Given the description of an element on the screen output the (x, y) to click on. 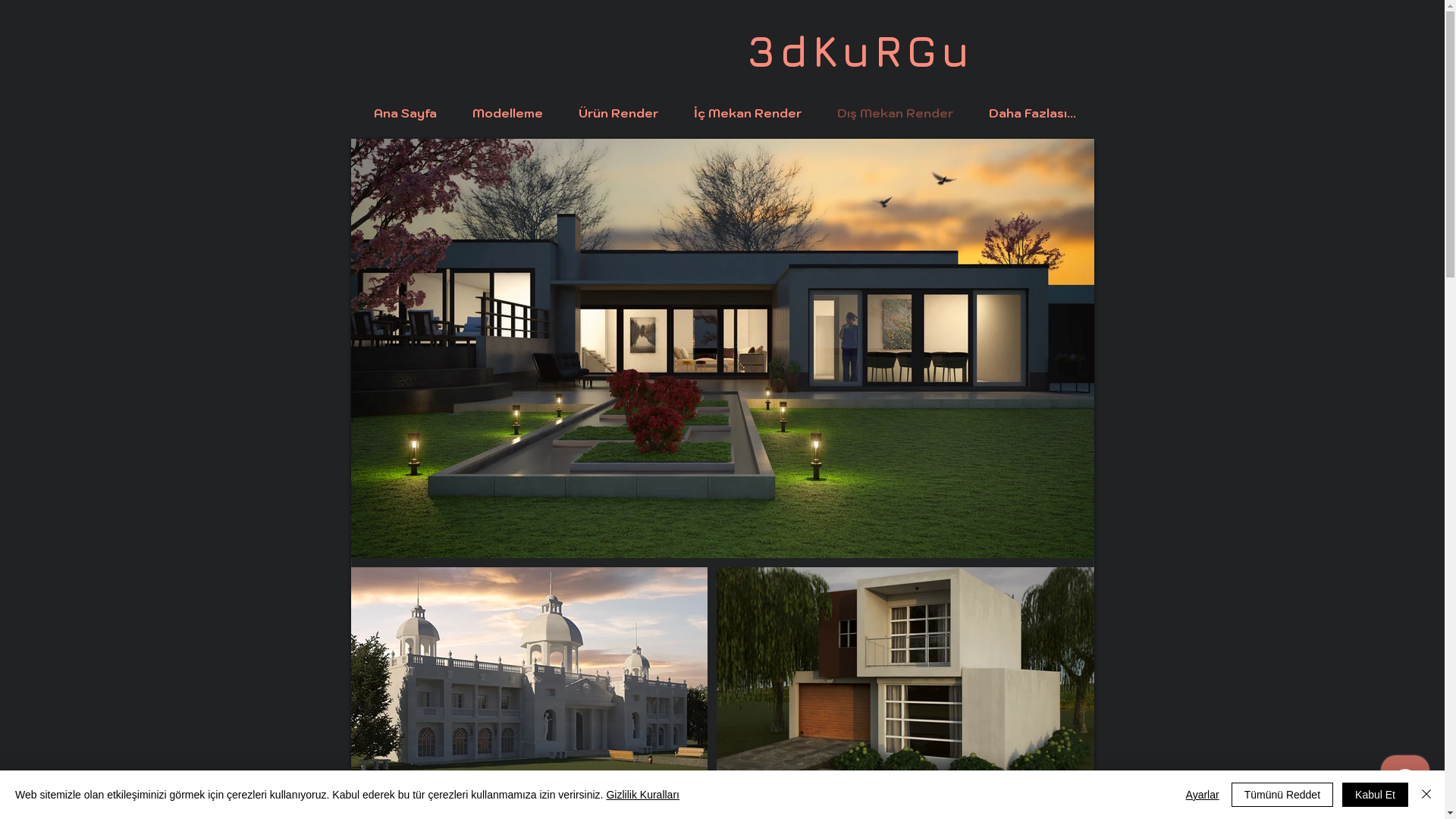
Modelleme Element type: text (508, 112)
Ana Sayfa Element type: text (405, 112)
Kabul Et Element type: text (1375, 794)
Embedded Content Element type: hover (187, 623)
